Given the description of an element on the screen output the (x, y) to click on. 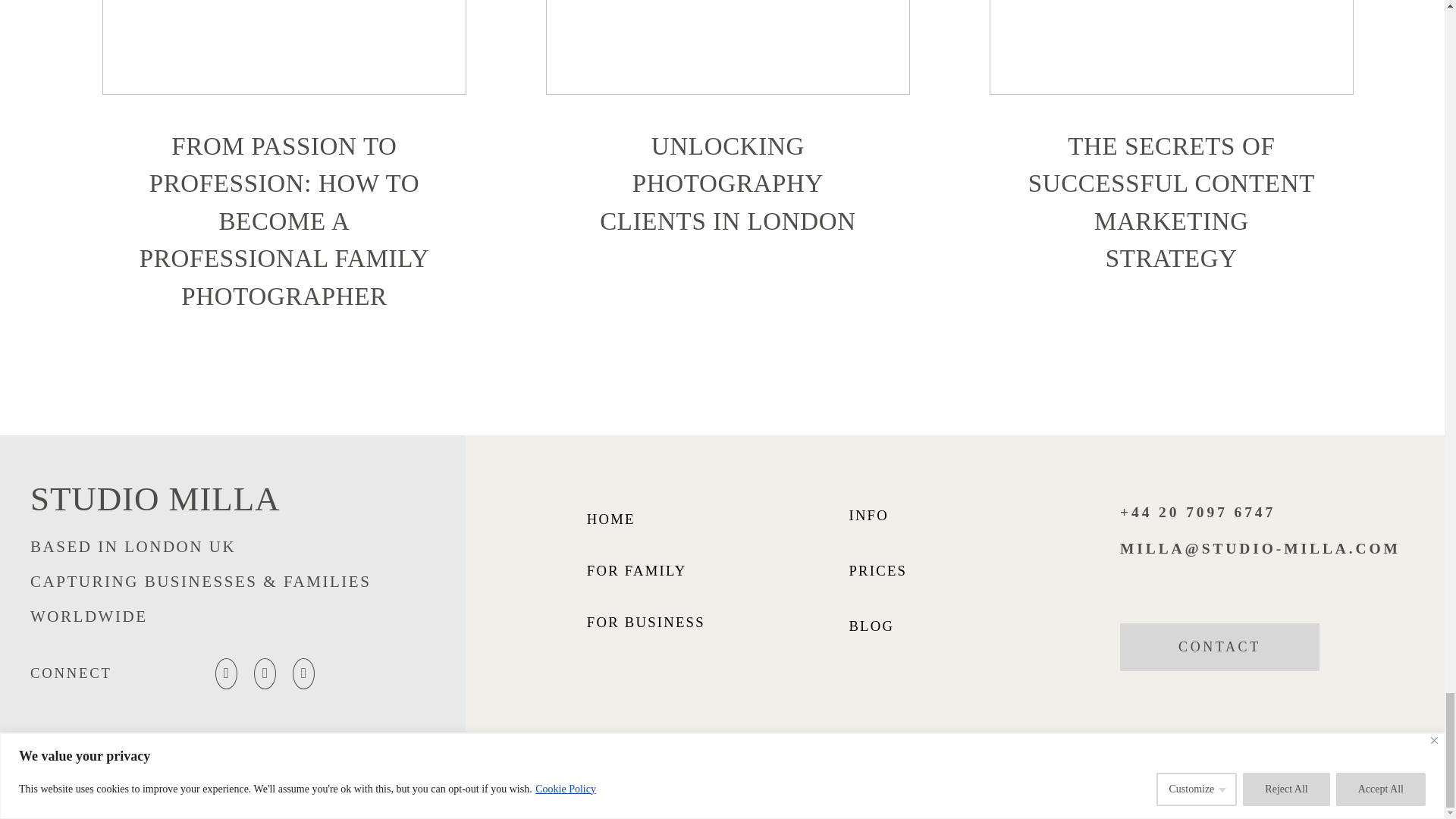
PRICES (877, 570)
BACK TO TOP (1301, 775)
INFO (868, 514)
BACK TO TOP (1285, 776)
THE SECRETS OF SUCCESSFUL CONTENT MARKETING STRATEGY (1171, 202)
UNLOCKING PHOTOGRAPHY CLIENTS IN LONDON (726, 183)
STUDIO MILLA (162, 498)
